Given the description of an element on the screen output the (x, y) to click on. 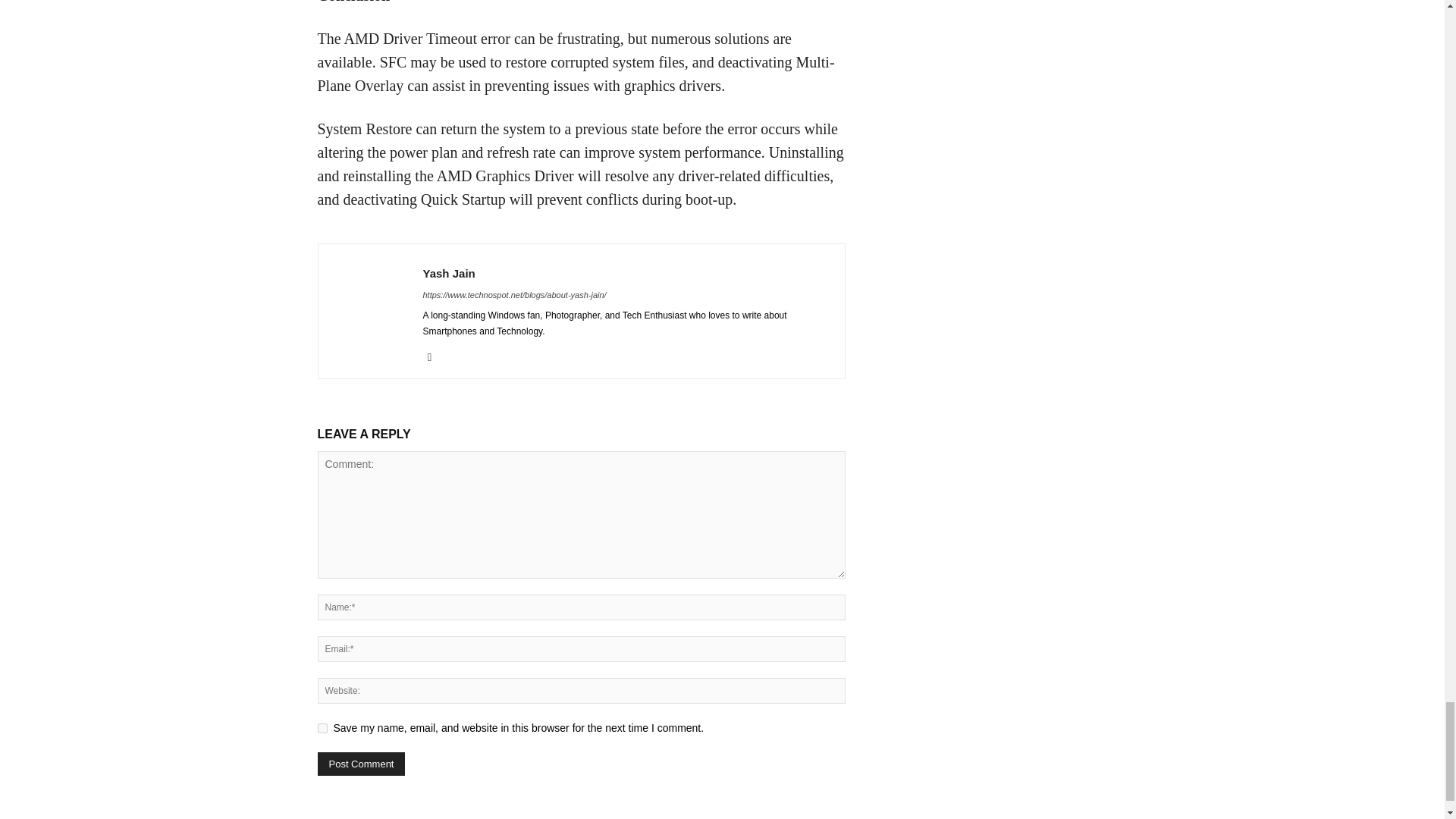
yes (321, 728)
Post Comment (360, 763)
Twitter (435, 357)
Yash Jain (449, 273)
Post Comment (360, 763)
